Given the description of an element on the screen output the (x, y) to click on. 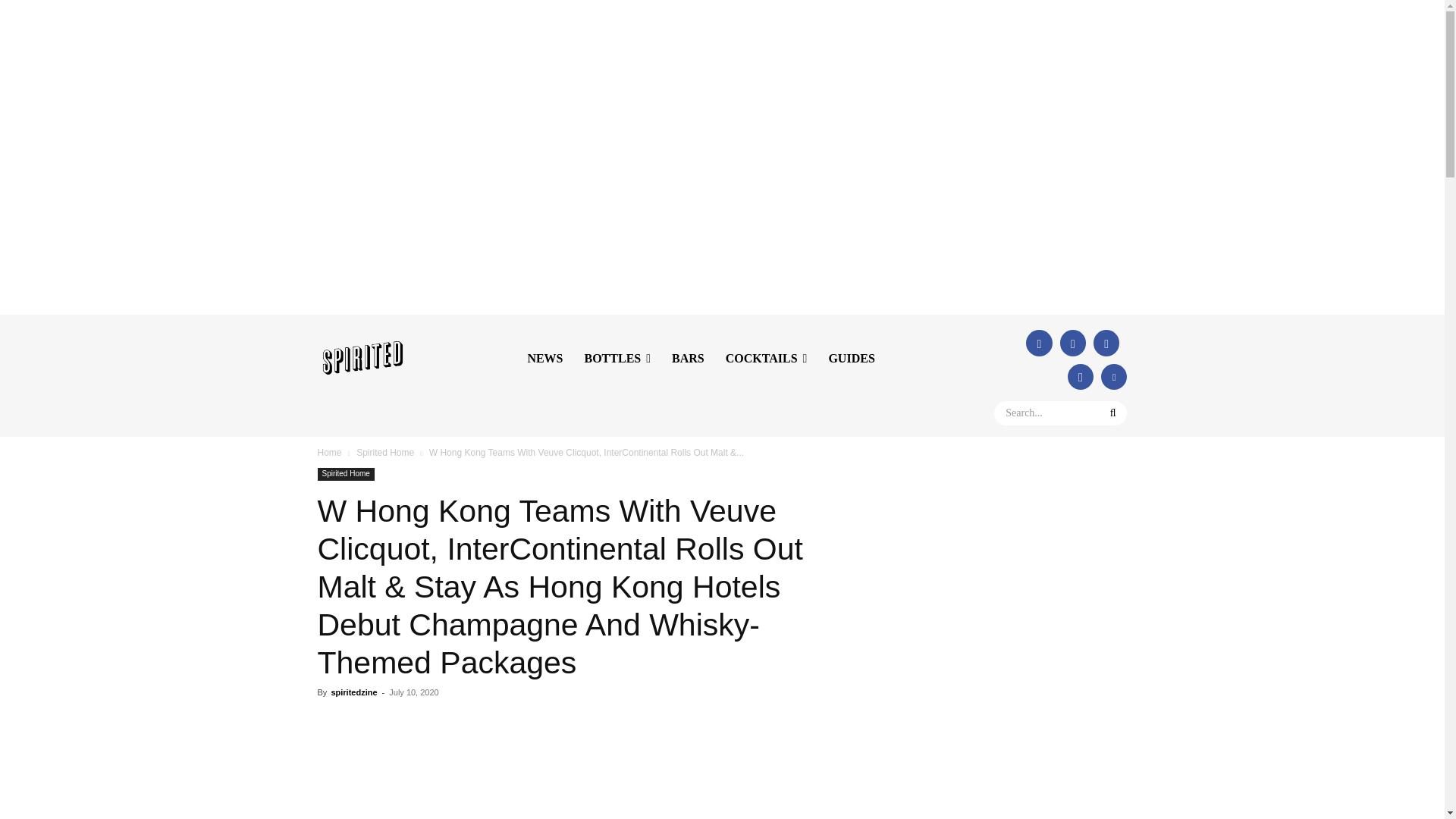
Twitter (1072, 342)
Facebook (1038, 342)
Instagram (1106, 342)
NEWS (544, 358)
Spirited (362, 357)
BOTTLES (617, 358)
COCKTAILS (766, 358)
View all posts in Spirited Home (384, 452)
Pinterest (1113, 376)
BARS (687, 358)
Youtube (1080, 376)
